Given the description of an element on the screen output the (x, y) to click on. 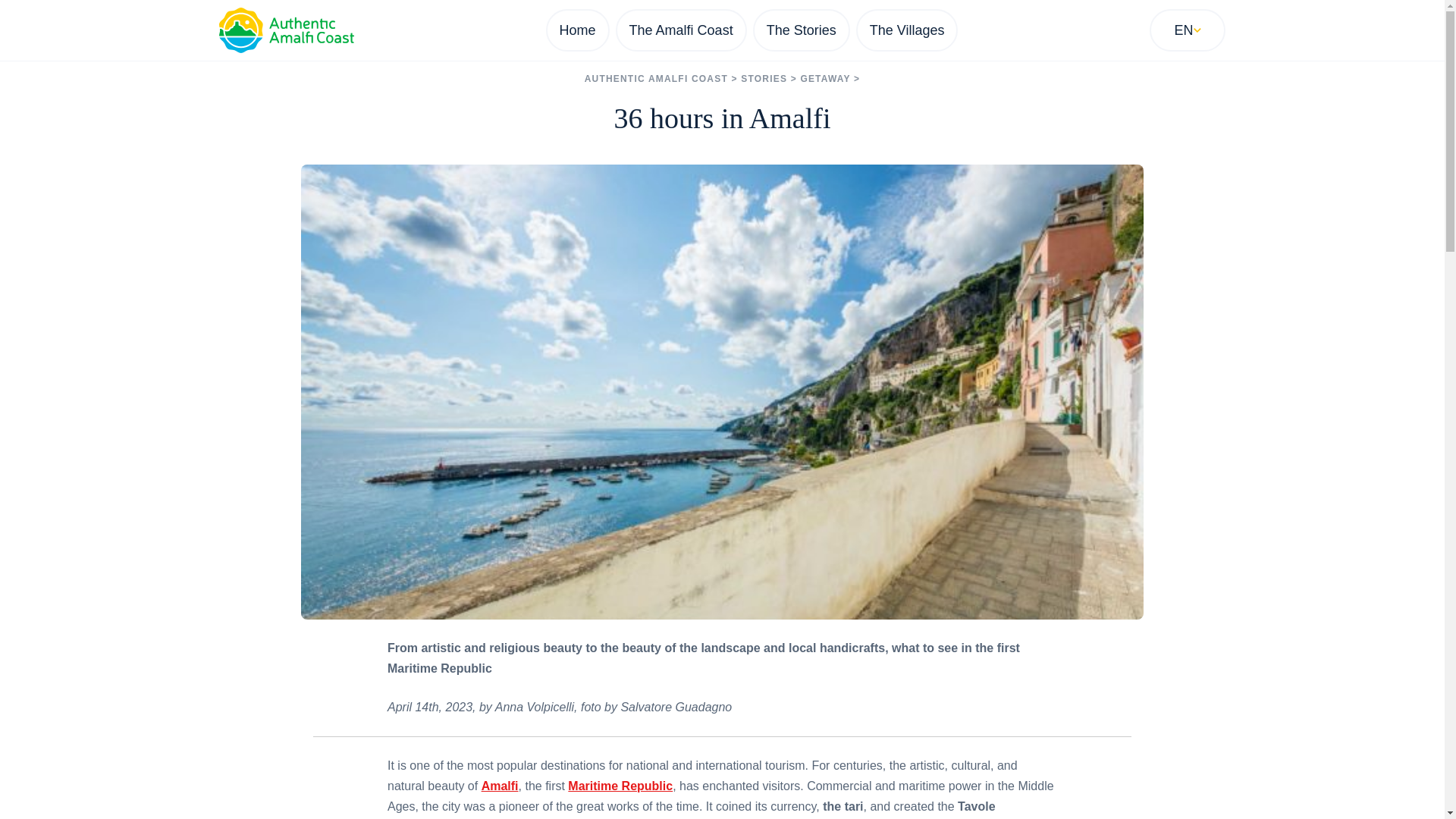
GETAWAY (824, 78)
Go to Stories. (764, 78)
Maritime Republic (619, 785)
AUTHENTIC AMALFI COAST (656, 78)
Authentic Amalfi Coast (285, 30)
The Villages (907, 30)
Go to Authentic Amalfi Coast. (656, 78)
Home (578, 30)
The Amalfi Coast (680, 30)
STORIES (764, 78)
The Stories (801, 30)
Amalfi (499, 785)
Go to the Getaway Type archives. (824, 78)
EN (1187, 30)
